Given the description of an element on the screen output the (x, y) to click on. 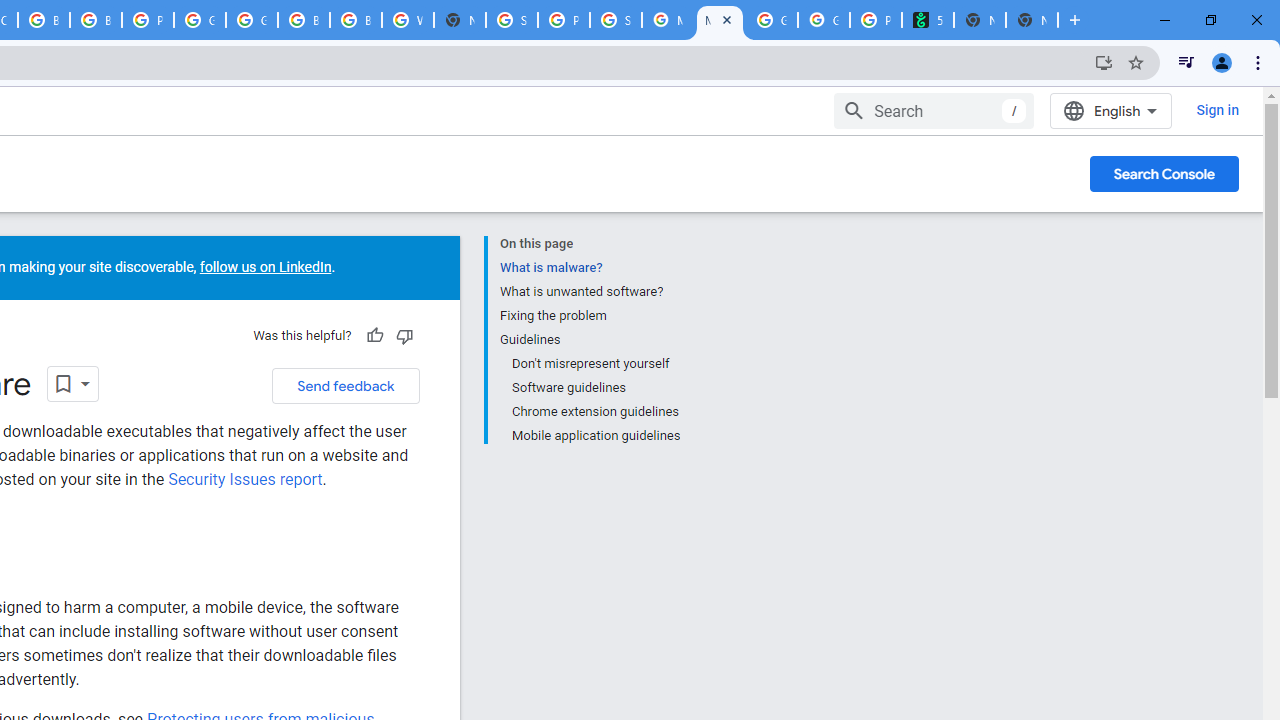
Google Cloud Platform (200, 20)
Open dropdown (73, 383)
Don't misrepresent yourself (594, 363)
Browse Chrome as a guest - Computer - Google Chrome Help (43, 20)
What is malware? (589, 268)
Sign in - Google Accounts (511, 20)
New Tab (459, 20)
